Given the description of an element on the screen output the (x, y) to click on. 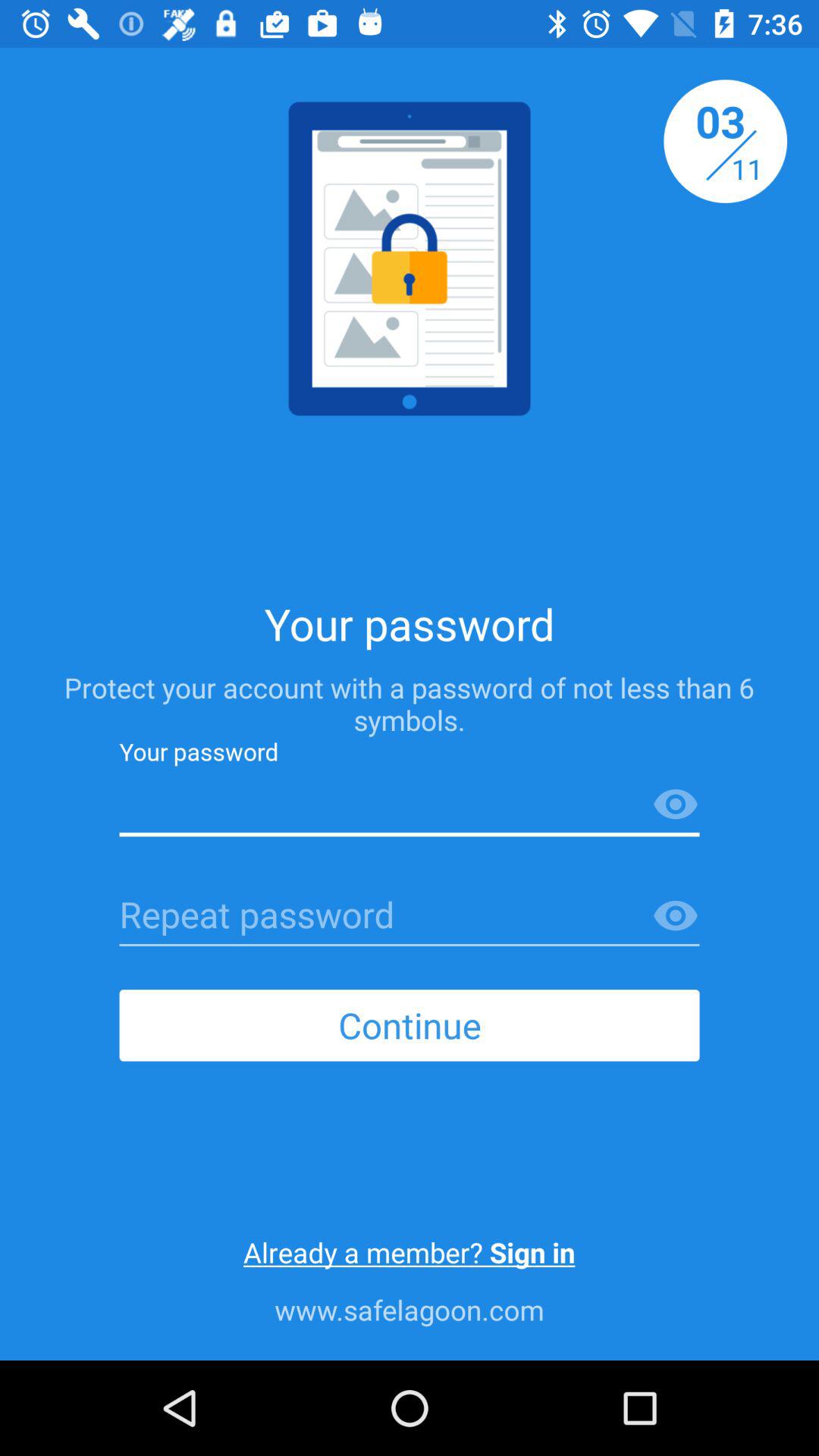
see password (675, 804)
